Given the description of an element on the screen output the (x, y) to click on. 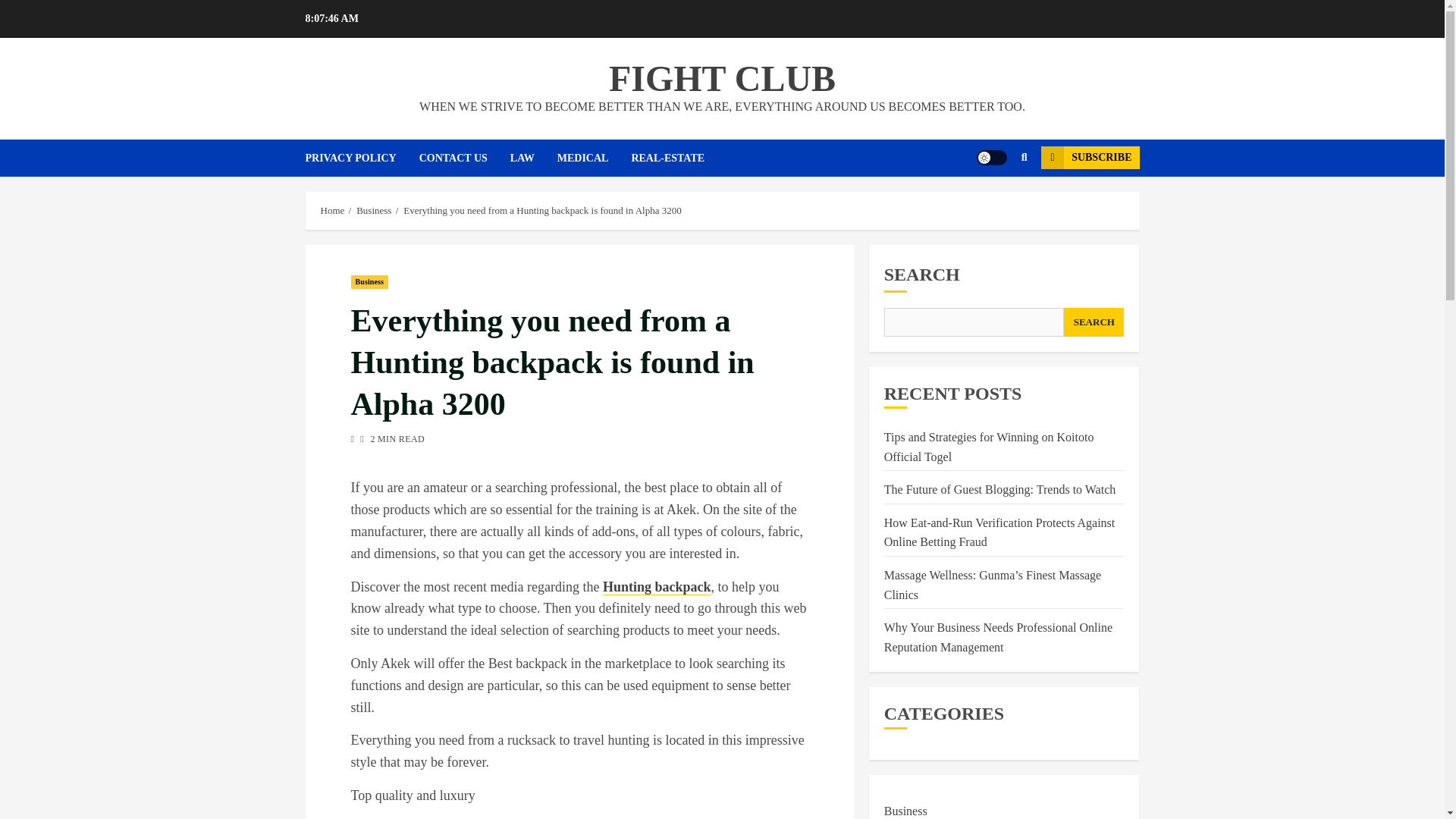
SEARCH (1094, 321)
Tips and Strategies for Winning on Koitoto Official Togel (988, 447)
MEDICAL (594, 157)
The Future of Guest Blogging: Trends to Watch (999, 489)
Business (369, 282)
Home (331, 210)
LAW (534, 157)
CONTACT US (465, 157)
Search (994, 203)
Hunting backpack (656, 587)
FIGHT CLUB (721, 78)
Business (373, 210)
REAL-ESTATE (678, 157)
Search (1023, 157)
